Given the description of an element on the screen output the (x, y) to click on. 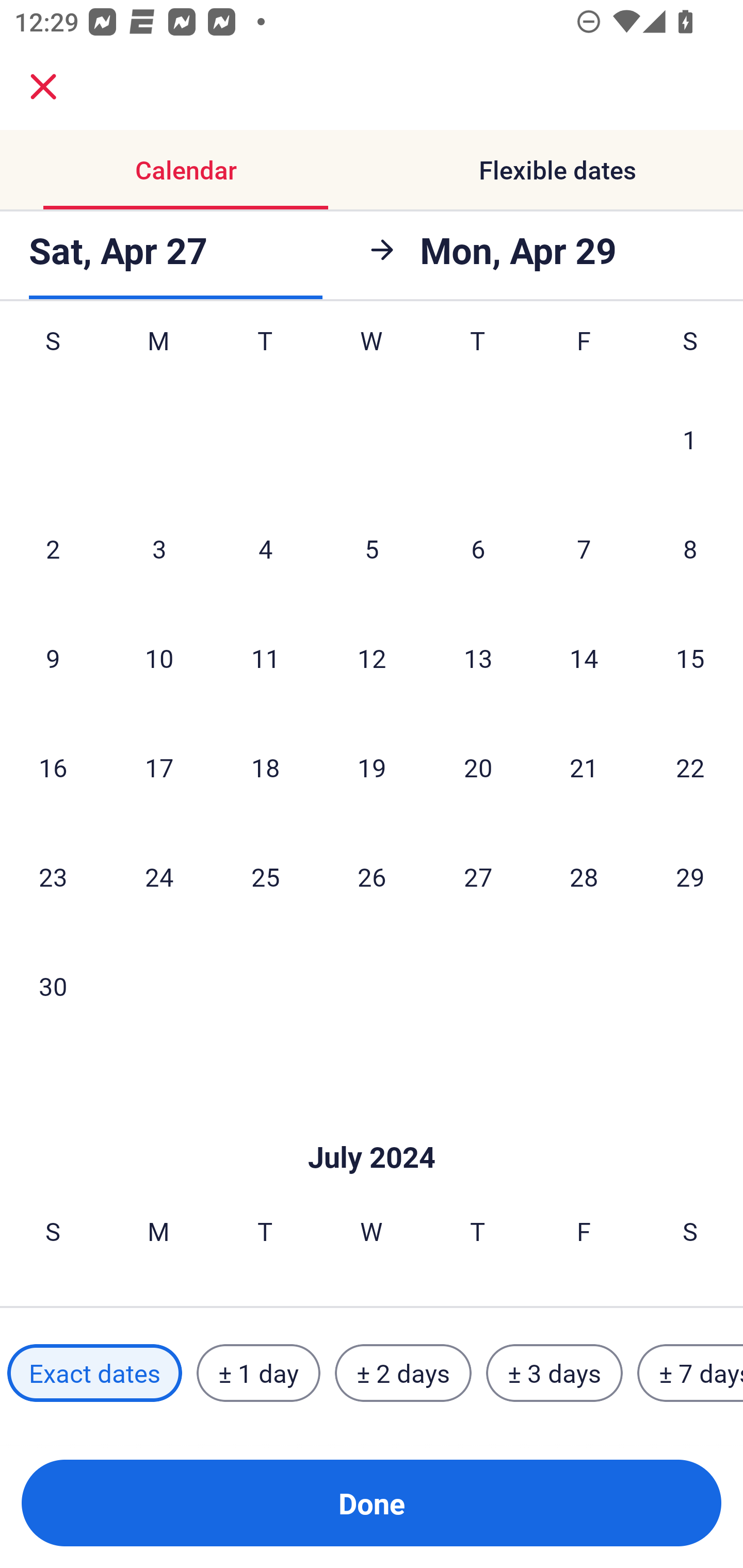
close. (43, 86)
Flexible dates (557, 170)
1 Saturday, June 1, 2024 (689, 438)
2 Sunday, June 2, 2024 (53, 548)
3 Monday, June 3, 2024 (159, 548)
4 Tuesday, June 4, 2024 (265, 548)
5 Wednesday, June 5, 2024 (371, 548)
6 Thursday, June 6, 2024 (477, 548)
7 Friday, June 7, 2024 (584, 548)
8 Saturday, June 8, 2024 (690, 548)
9 Sunday, June 9, 2024 (53, 657)
10 Monday, June 10, 2024 (159, 657)
11 Tuesday, June 11, 2024 (265, 657)
12 Wednesday, June 12, 2024 (371, 657)
13 Thursday, June 13, 2024 (477, 657)
14 Friday, June 14, 2024 (584, 657)
15 Saturday, June 15, 2024 (690, 657)
16 Sunday, June 16, 2024 (53, 767)
17 Monday, June 17, 2024 (159, 767)
18 Tuesday, June 18, 2024 (265, 767)
19 Wednesday, June 19, 2024 (371, 767)
20 Thursday, June 20, 2024 (477, 767)
21 Friday, June 21, 2024 (584, 767)
22 Saturday, June 22, 2024 (690, 767)
23 Sunday, June 23, 2024 (53, 876)
24 Monday, June 24, 2024 (159, 876)
25 Tuesday, June 25, 2024 (265, 876)
26 Wednesday, June 26, 2024 (371, 876)
27 Thursday, June 27, 2024 (477, 876)
28 Friday, June 28, 2024 (584, 876)
29 Saturday, June 29, 2024 (690, 876)
30 Sunday, June 30, 2024 (53, 985)
Skip to Done (371, 1126)
Exact dates (94, 1372)
± 1 day (258, 1372)
± 2 days (403, 1372)
± 3 days (553, 1372)
± 7 days (690, 1372)
Done (371, 1502)
